Given the description of an element on the screen output the (x, y) to click on. 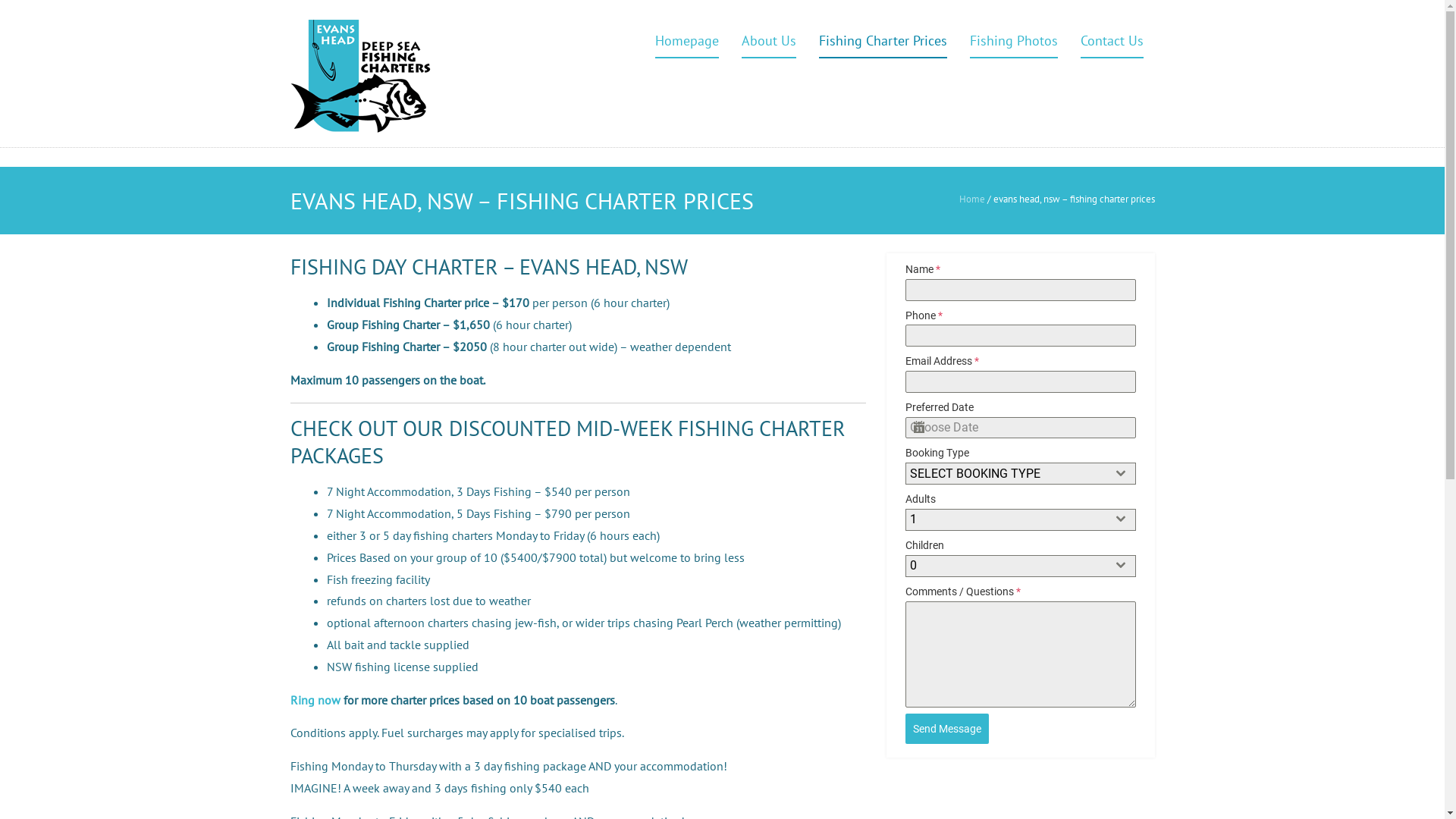
Ring now Element type: text (314, 699)
Send Message Element type: text (946, 728)
Home Element type: text (971, 198)
Contact Us Element type: text (1110, 41)
About Us Element type: text (768, 41)
Homepage Element type: text (686, 41)
Fishing Photos Element type: text (1013, 41)
Fishing Charter Prices Element type: text (883, 41)
